Given the description of an element on the screen output the (x, y) to click on. 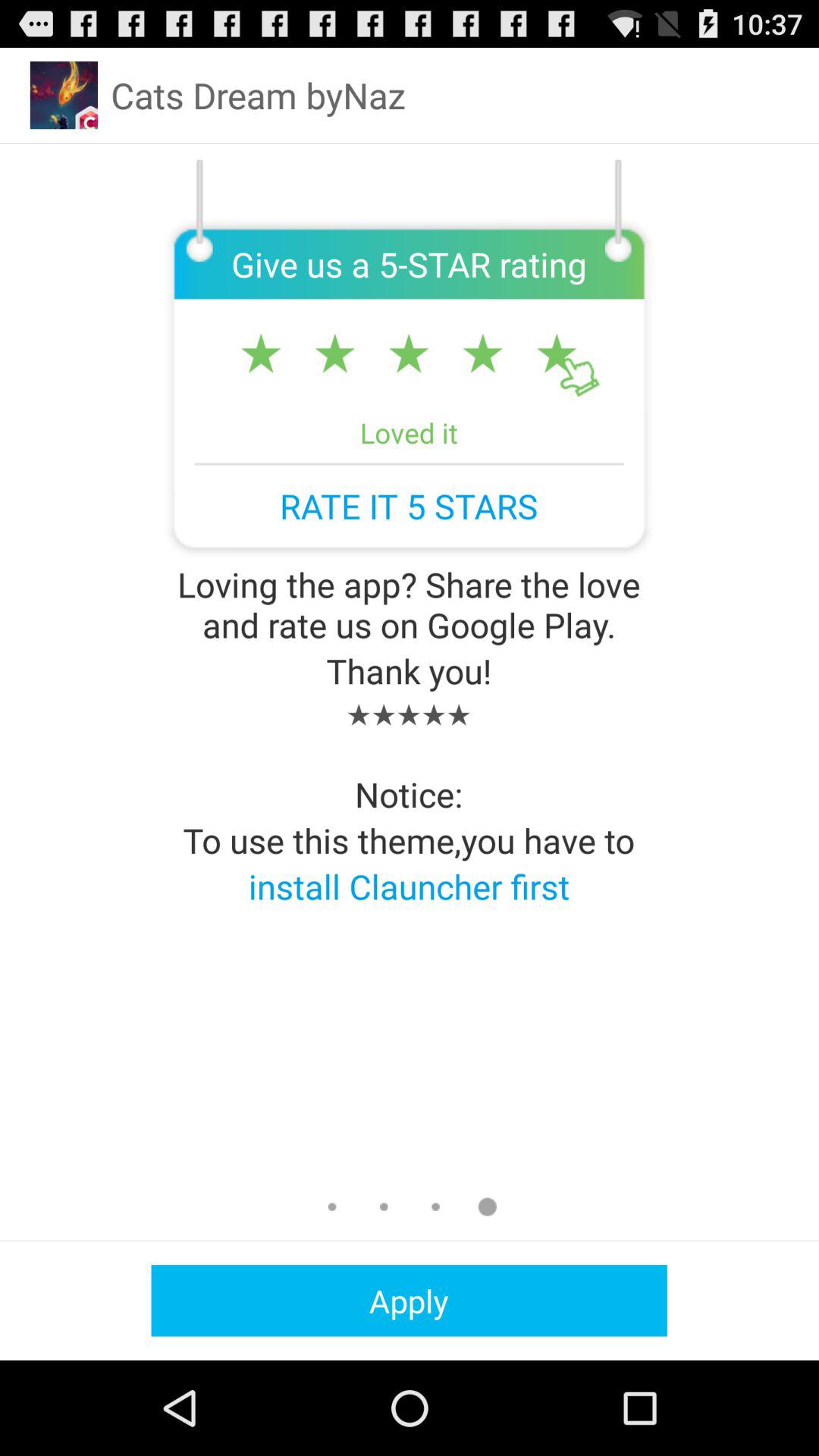
jump until install clauncher first app (409, 886)
